Given the description of an element on the screen output the (x, y) to click on. 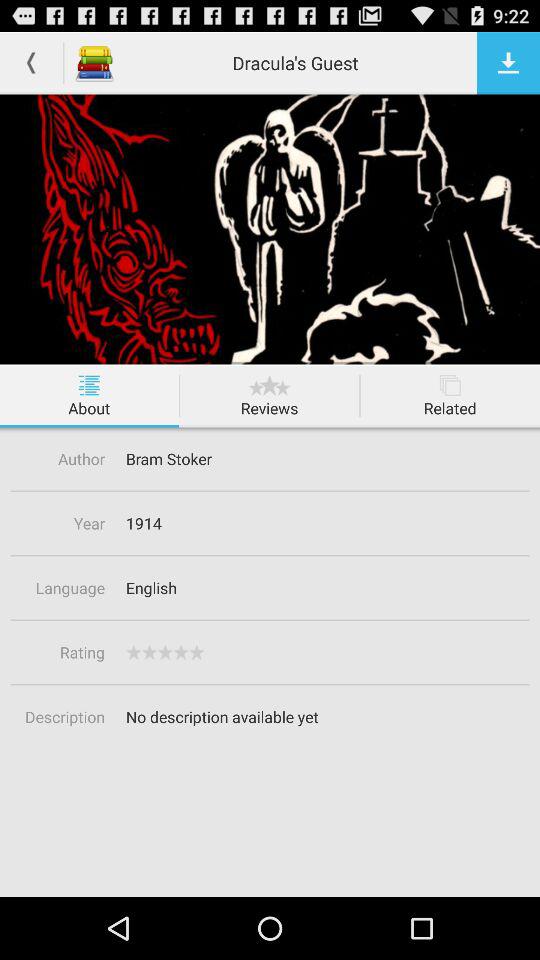
download (508, 62)
